Given the description of an element on the screen output the (x, y) to click on. 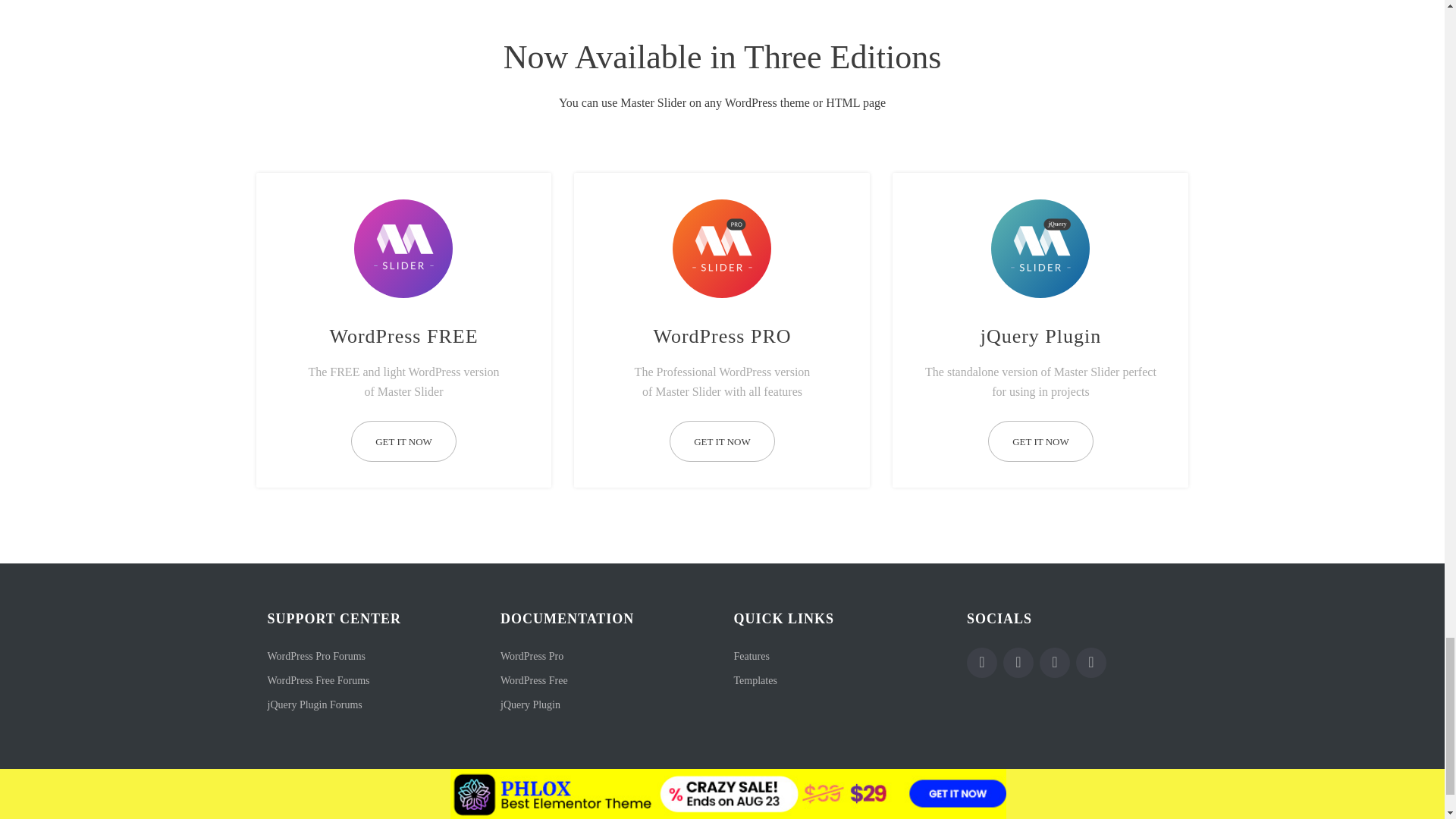
YouTube (1054, 662)
Logo-e1 (403, 244)
GET IT NOW (403, 441)
Logo-e3 (1040, 244)
Logo-e2 (722, 244)
Facebook (981, 662)
GET IT NOW (721, 441)
GET IT NOW (1040, 441)
WordPress (1090, 662)
Twitter (1018, 662)
